Given the description of an element on the screen output the (x, y) to click on. 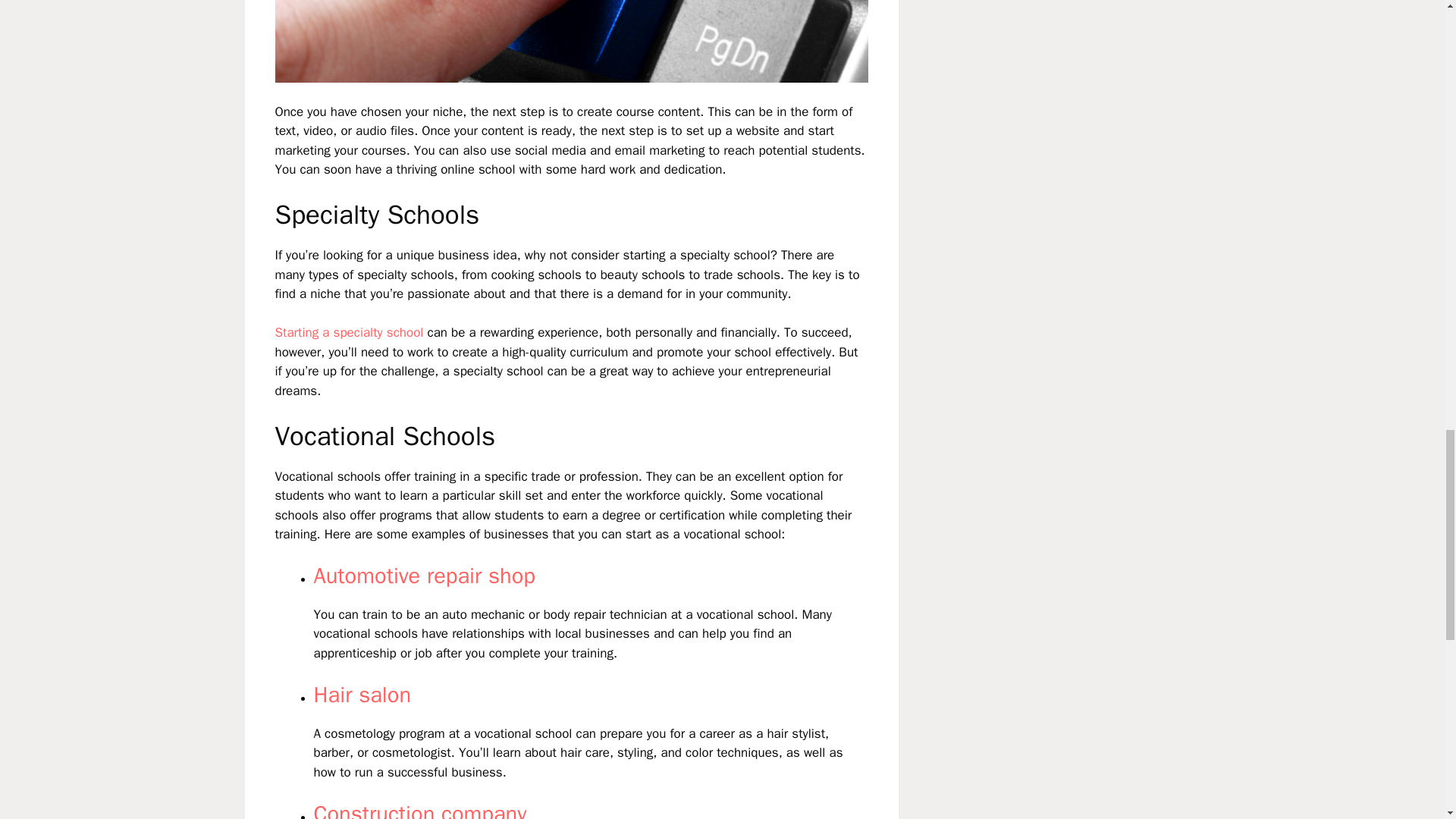
E-learning (571, 41)
Starting a specialty school (349, 332)
